Given the description of an element on the screen output the (x, y) to click on. 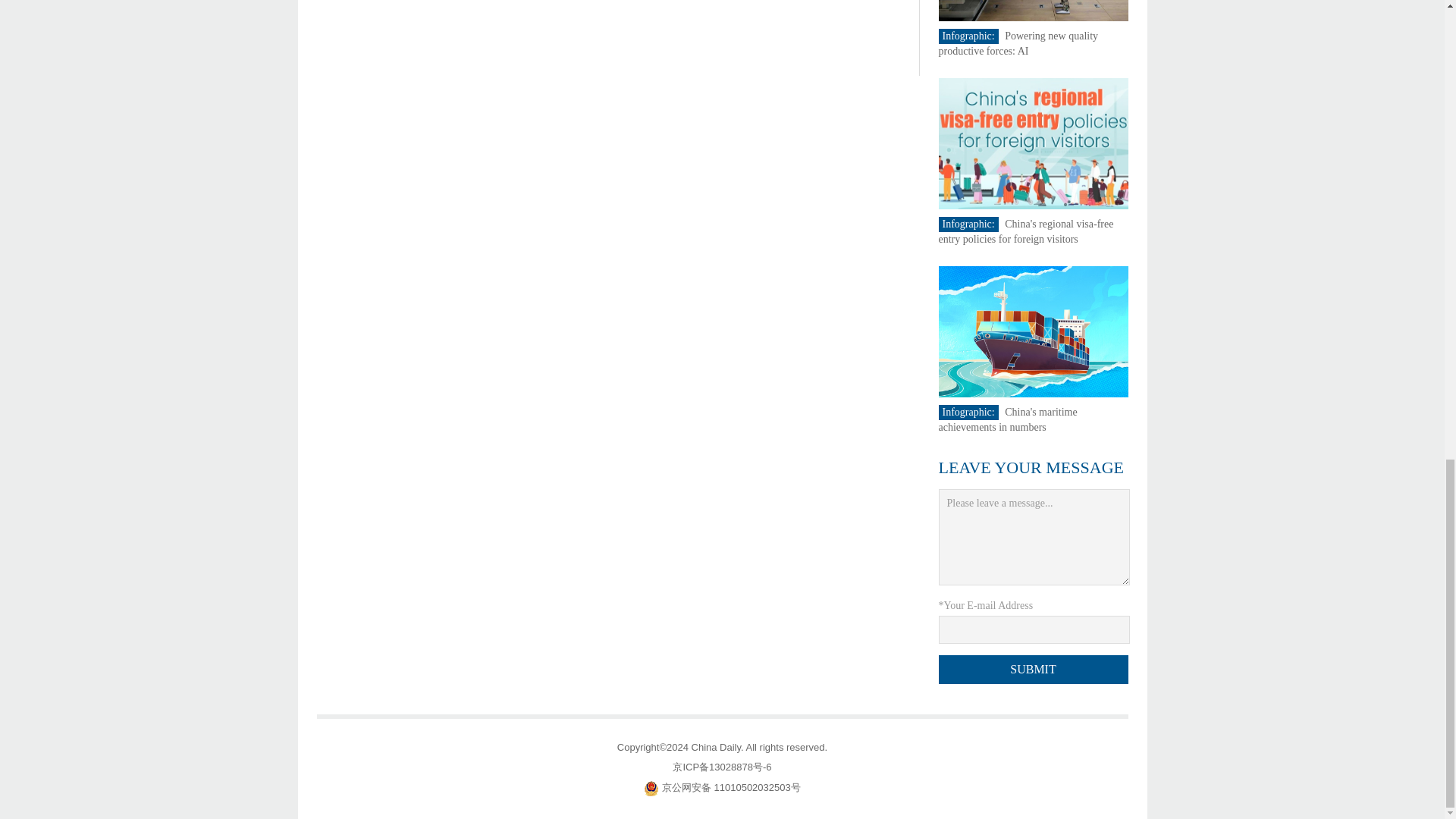
Submit (1033, 669)
LEAVE YOUR MESSAGE (1031, 466)
China's maritime achievements in numbers (1008, 419)
Submit (1033, 669)
Powering new quality productive forces: AI (1019, 43)
